Given the description of an element on the screen output the (x, y) to click on. 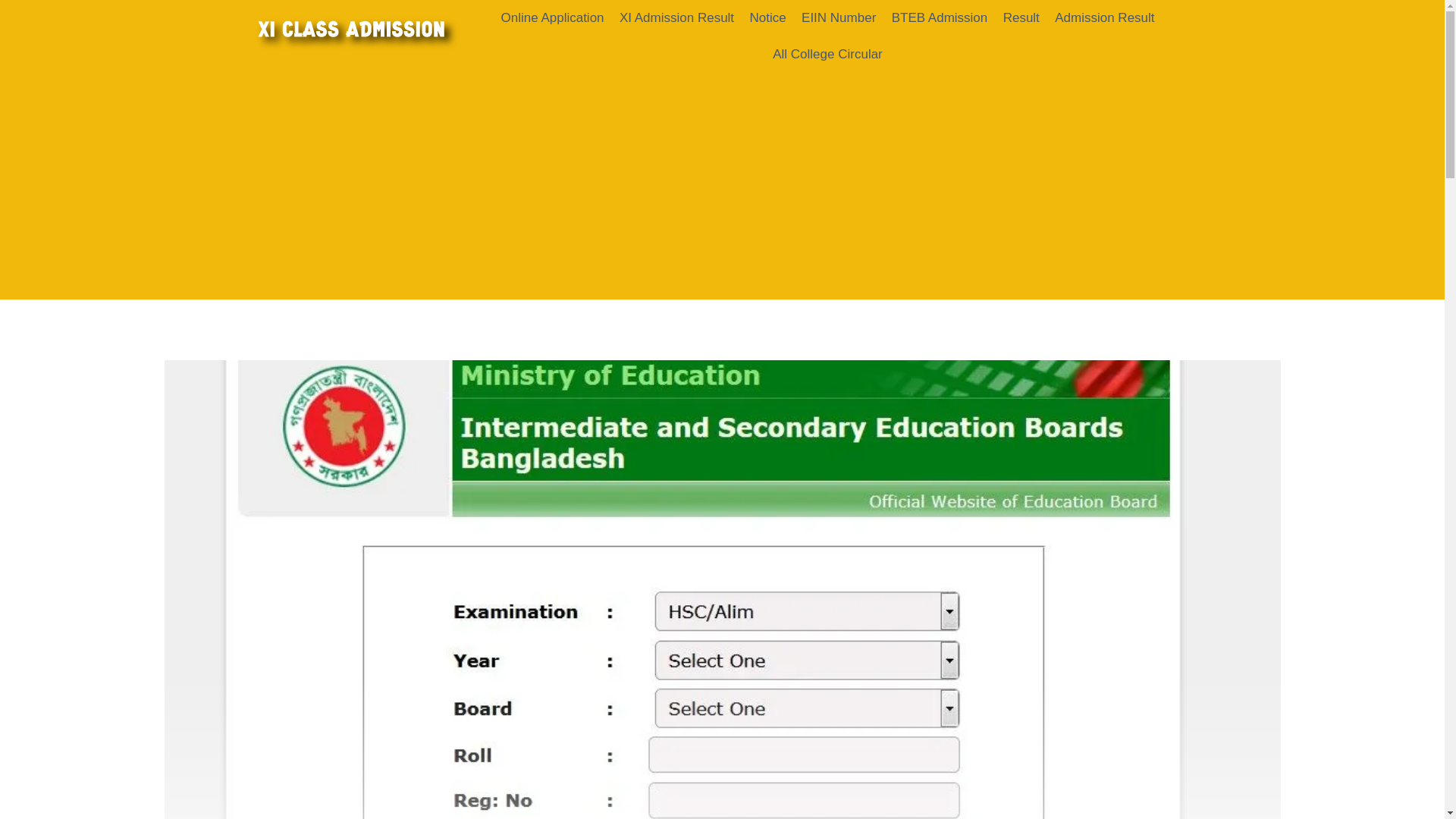
All College Circular (827, 54)
XI Admission Result (676, 18)
EIIN Number (838, 18)
Notice (767, 18)
Result (1020, 18)
BTEB Admission (938, 18)
Admission Result (1103, 18)
Online Application (552, 18)
